Given the description of an element on the screen output the (x, y) to click on. 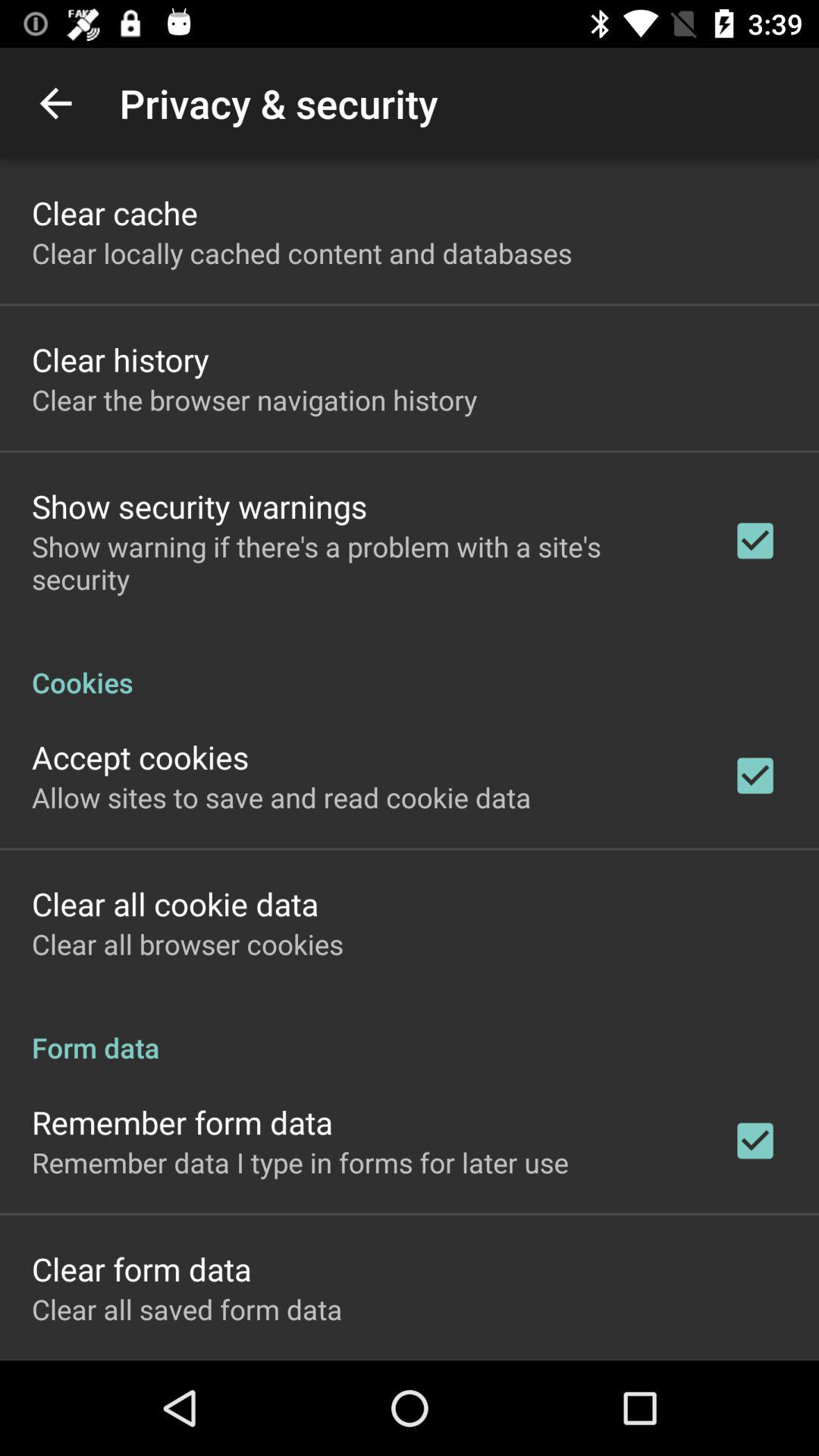
launch the item below accept cookies (281, 797)
